Given the description of an element on the screen output the (x, y) to click on. 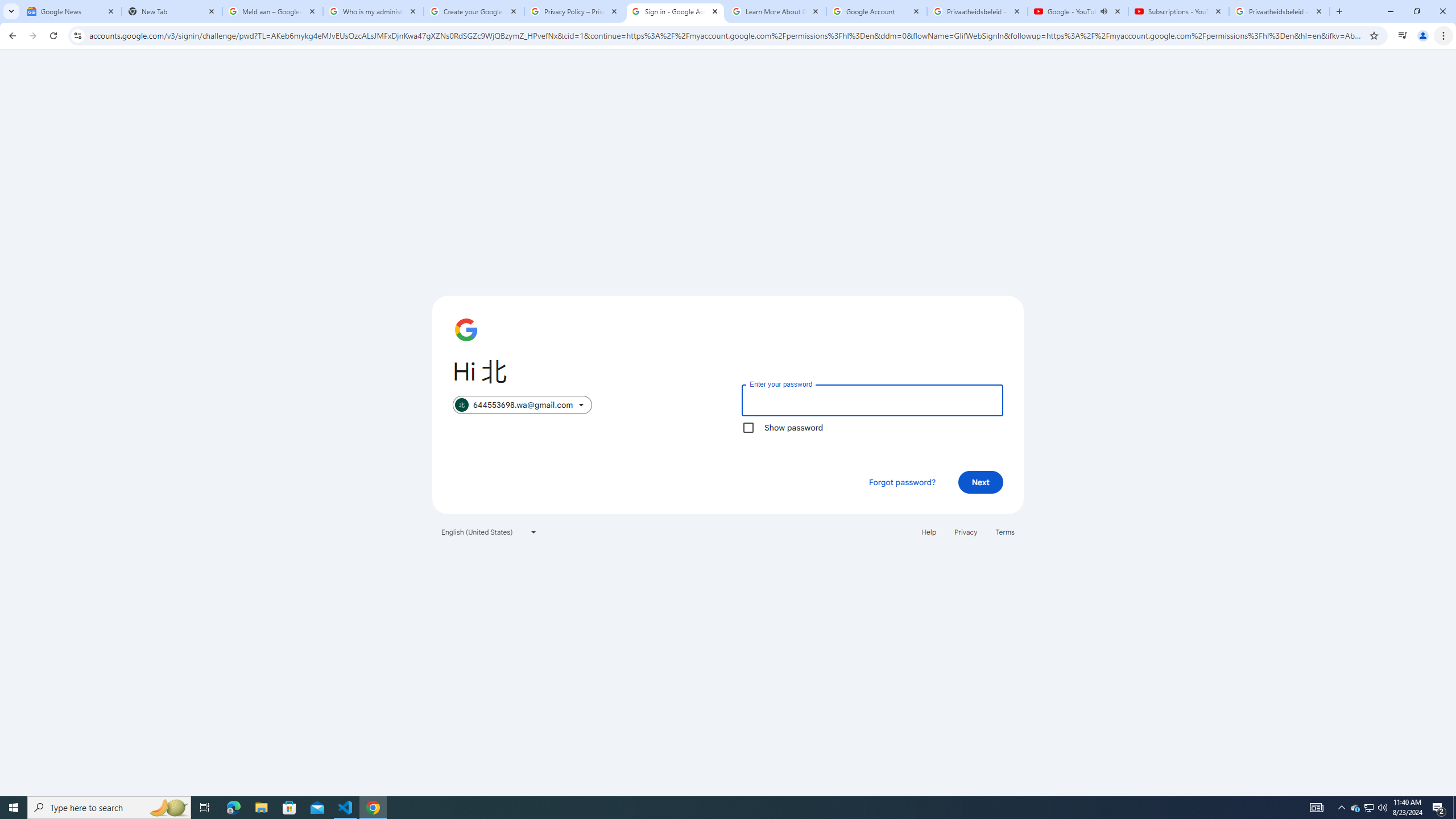
Google Account (876, 11)
644553698.wa@gmail.com selected. Switch account (522, 404)
Show password (748, 427)
